Given the description of an element on the screen output the (x, y) to click on. 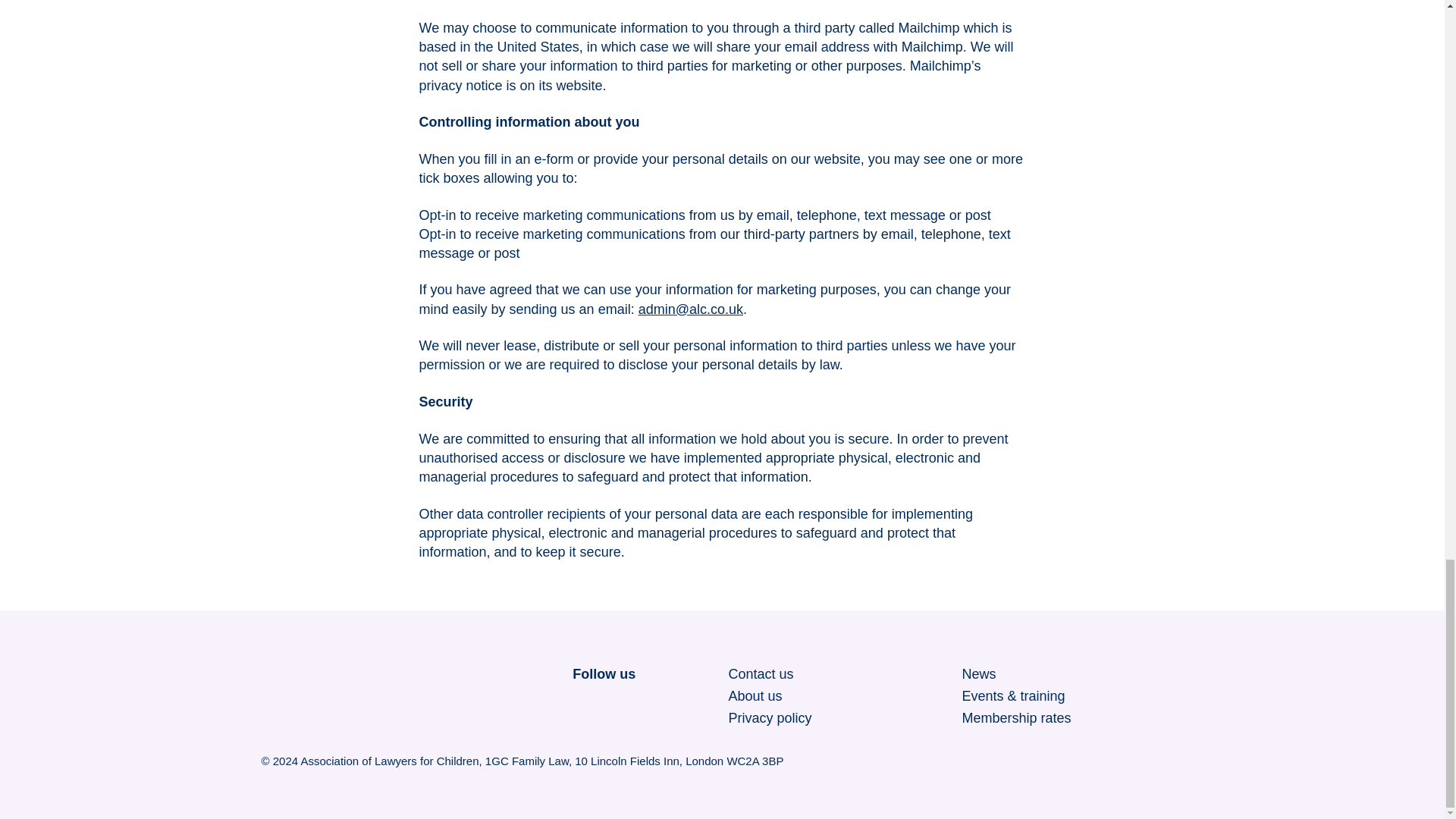
Privacy policy (769, 718)
Membership rates (1015, 718)
Contact us (760, 674)
Twitter (583, 701)
About us (754, 696)
News (977, 674)
Association of Lawyers for Children (362, 696)
LinkedIn (618, 701)
